Given the description of an element on the screen output the (x, y) to click on. 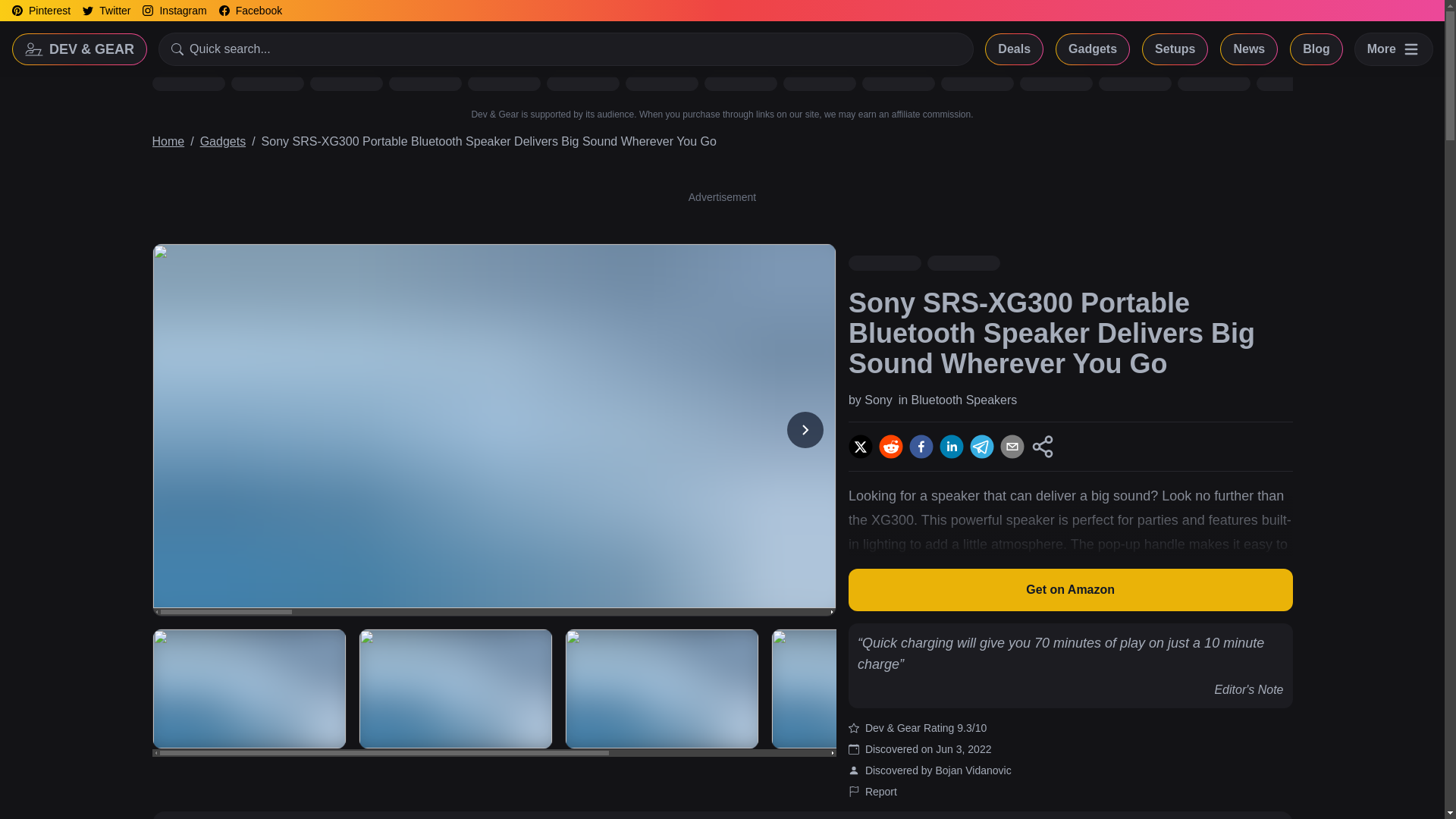
Facebook (250, 10)
Setups (1174, 49)
Instagram (174, 10)
Gadgets (1093, 49)
Deals (1013, 49)
Blog (1316, 49)
Home (167, 141)
Quick search... (565, 49)
Pinterest (40, 10)
Gadgets (223, 141)
